Given the description of an element on the screen output the (x, y) to click on. 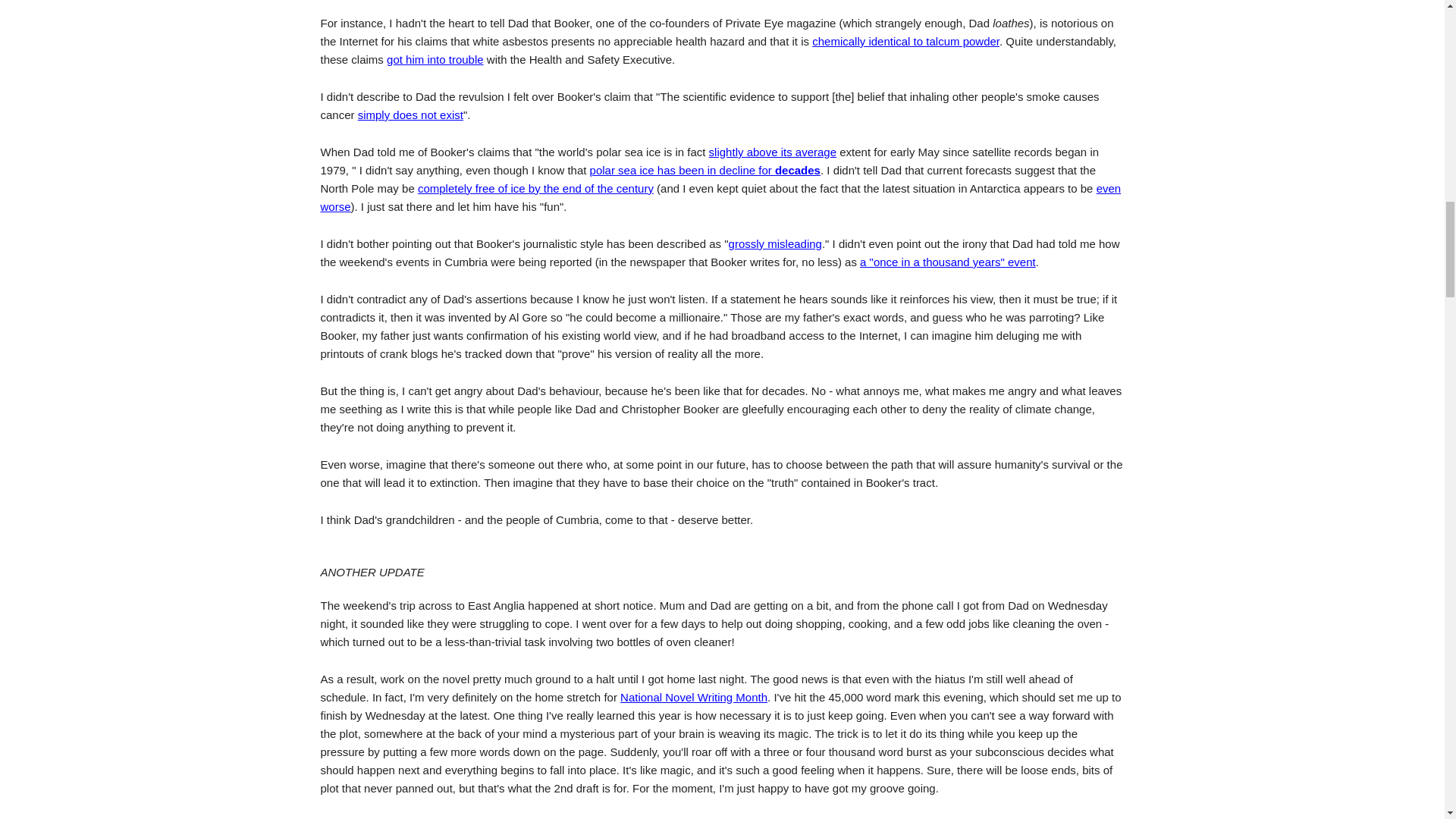
chemically identical to talcum powder (905, 41)
grossly misleading (775, 243)
simply does not exist (410, 114)
a "once in a thousand years" event (947, 261)
National Novel Writing Month (693, 697)
completely free of ice by the end of the century (535, 187)
polar sea ice has been in decline for decades (705, 169)
got him into trouble (435, 59)
even worse (720, 196)
slightly above its average (772, 151)
